Given the description of an element on the screen output the (x, y) to click on. 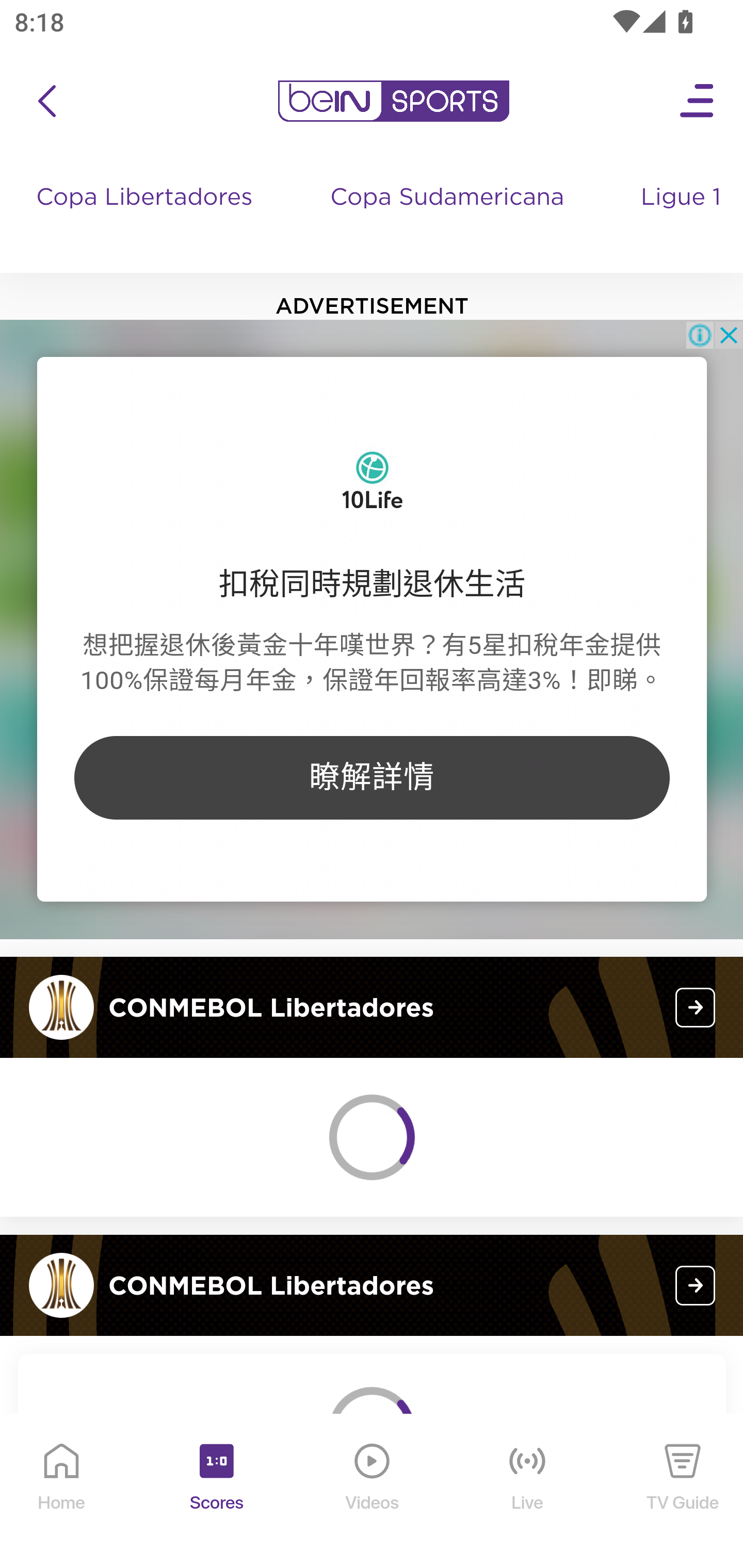
en-us?platform=mobile_android bein logo (392, 101)
icon back (46, 101)
Open Menu Icon (697, 101)
Copa Libertadores (146, 216)
Copa Sudamericana (448, 216)
Ligue 1 (682, 216)
扣稅同時規劃退休生活 (371, 583)
瞭解詳情 (371, 777)
conmebol-libertadores?platform=mobile_android (695, 1007)
news?platform=mobile_android (695, 1285)
Home Home Icon Home (61, 1491)
Scores Scores Icon Scores (216, 1491)
Videos Videos Icon Videos (372, 1491)
TV Guide TV Guide Icon TV Guide (682, 1491)
